Given the description of an element on the screen output the (x, y) to click on. 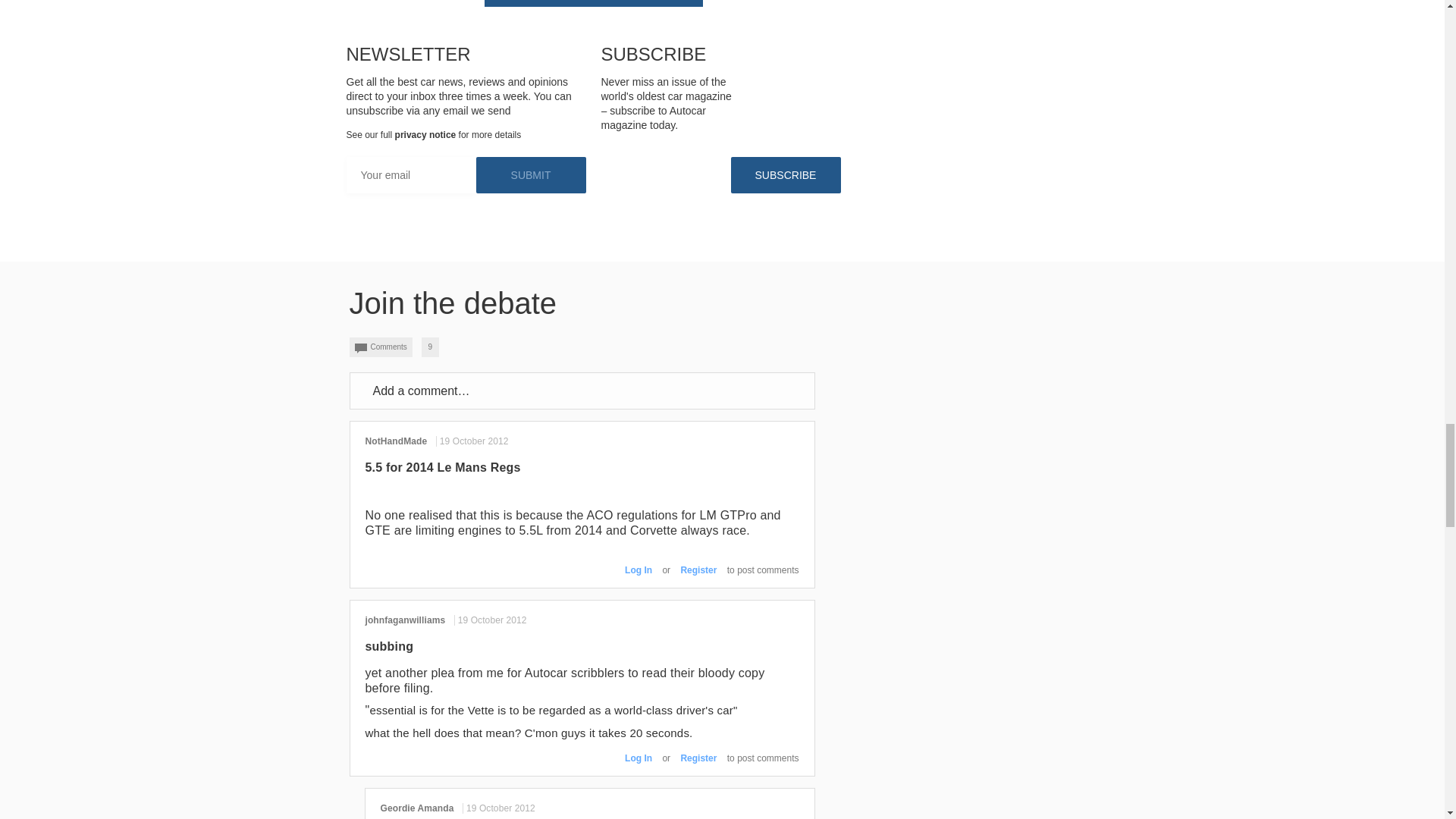
Submit (531, 175)
